Given the description of an element on the screen output the (x, y) to click on. 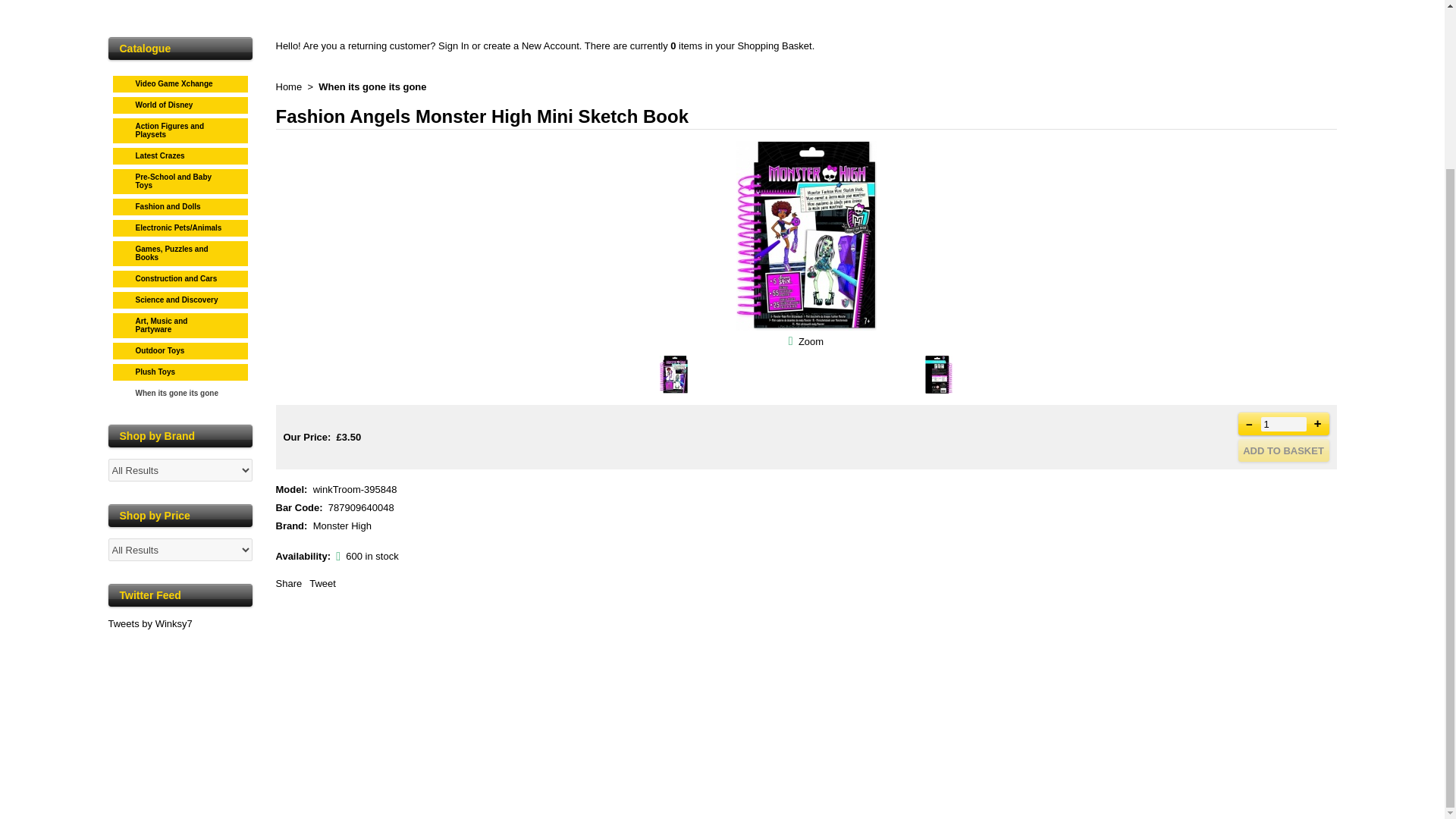
Plush Toys (179, 369)
New Account (550, 45)
Sign In (453, 45)
Tweets by Winksy7 (149, 623)
Fashion Angels Monster High Mini Sketch Book (805, 326)
1 (1283, 423)
Home (289, 86)
World of Disney (179, 102)
Construction and Cars (179, 276)
Action Figures and Playsets (179, 128)
